Given the description of an element on the screen output the (x, y) to click on. 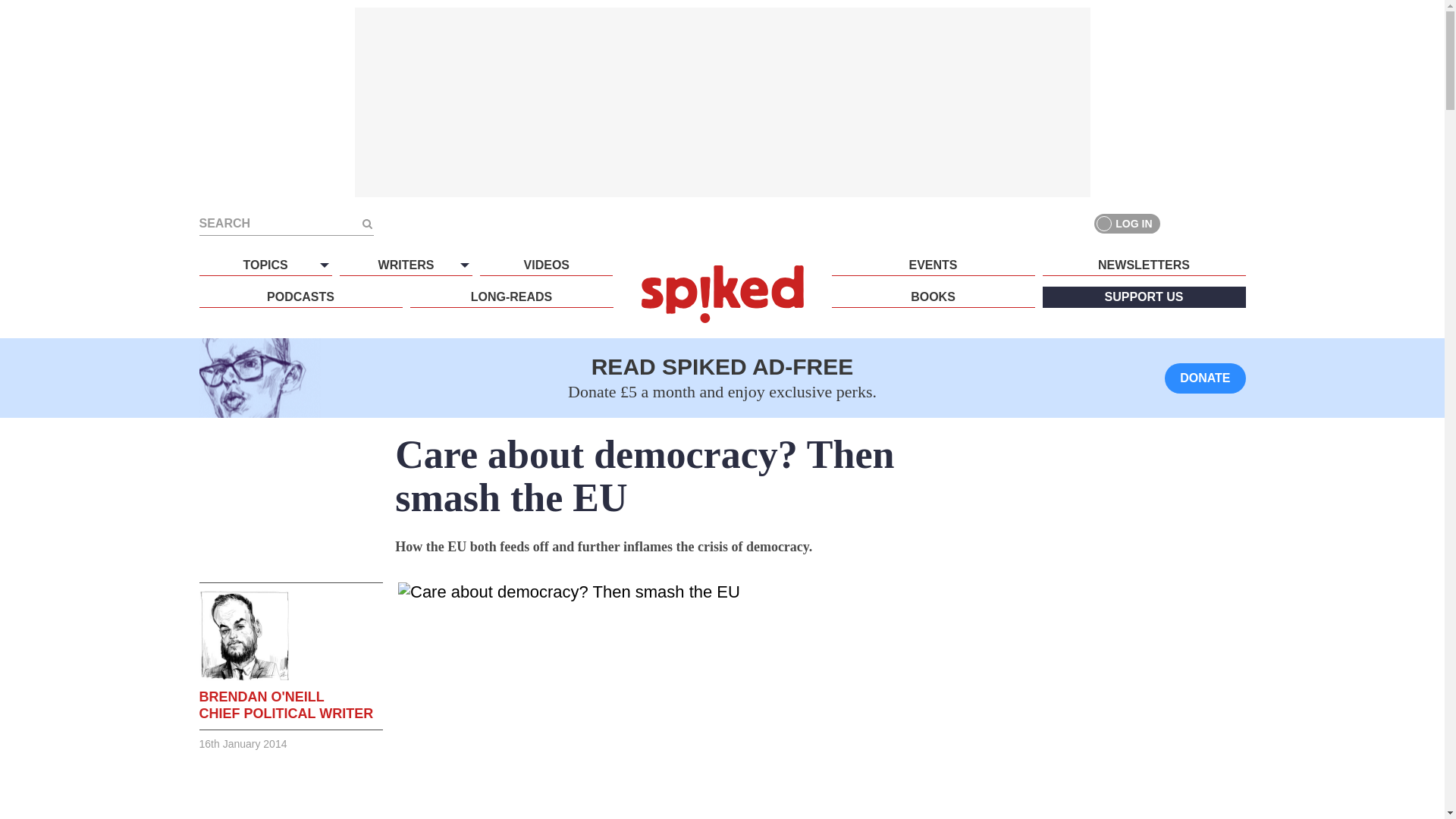
LONG-READS (510, 296)
BOOKS (932, 296)
Twitter (1207, 223)
NEWSLETTERS (1143, 265)
SUPPORT US (1143, 296)
EVENTS (932, 265)
YouTube (1234, 223)
TOPICS (264, 265)
LOG IN (1126, 223)
Facebook (1180, 223)
spiked - humanity is underrated (722, 293)
PODCASTS (299, 296)
VIDEOS (546, 265)
WRITERS (405, 265)
